Given the description of an element on the screen output the (x, y) to click on. 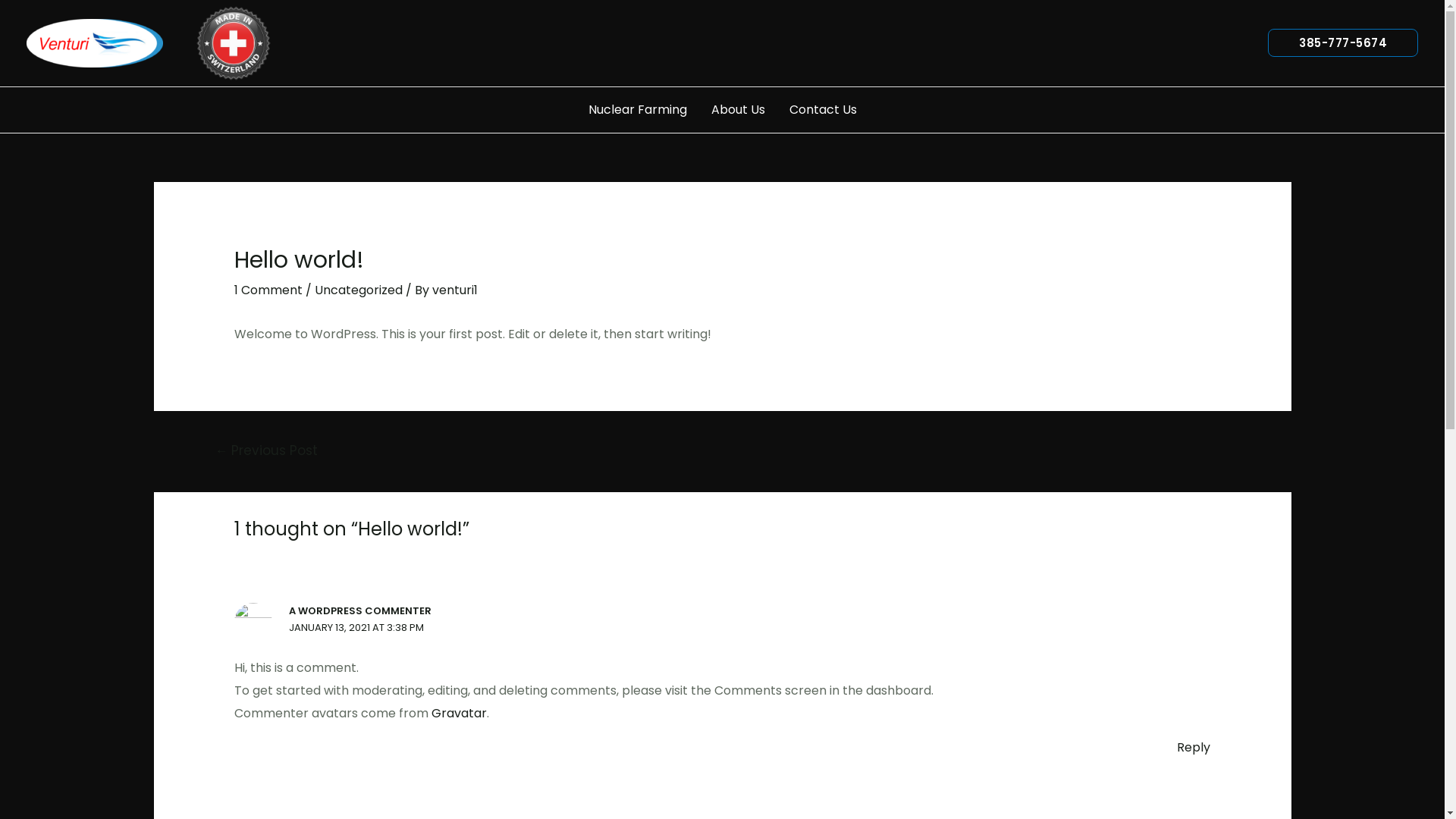
Reply Element type: text (1193, 747)
JANUARY 13, 2021 AT 3:38 PM Element type: text (355, 627)
Nuclear Farming Element type: text (637, 109)
About Us Element type: text (738, 109)
Contact Us Element type: text (822, 109)
Uncategorized Element type: text (358, 289)
1 Comment Element type: text (268, 289)
venturi1 Element type: text (454, 289)
A WORDPRESS COMMENTER Element type: text (359, 610)
385-777-5674 Element type: text (1342, 42)
Gravatar Element type: text (458, 712)
